Given the description of an element on the screen output the (x, y) to click on. 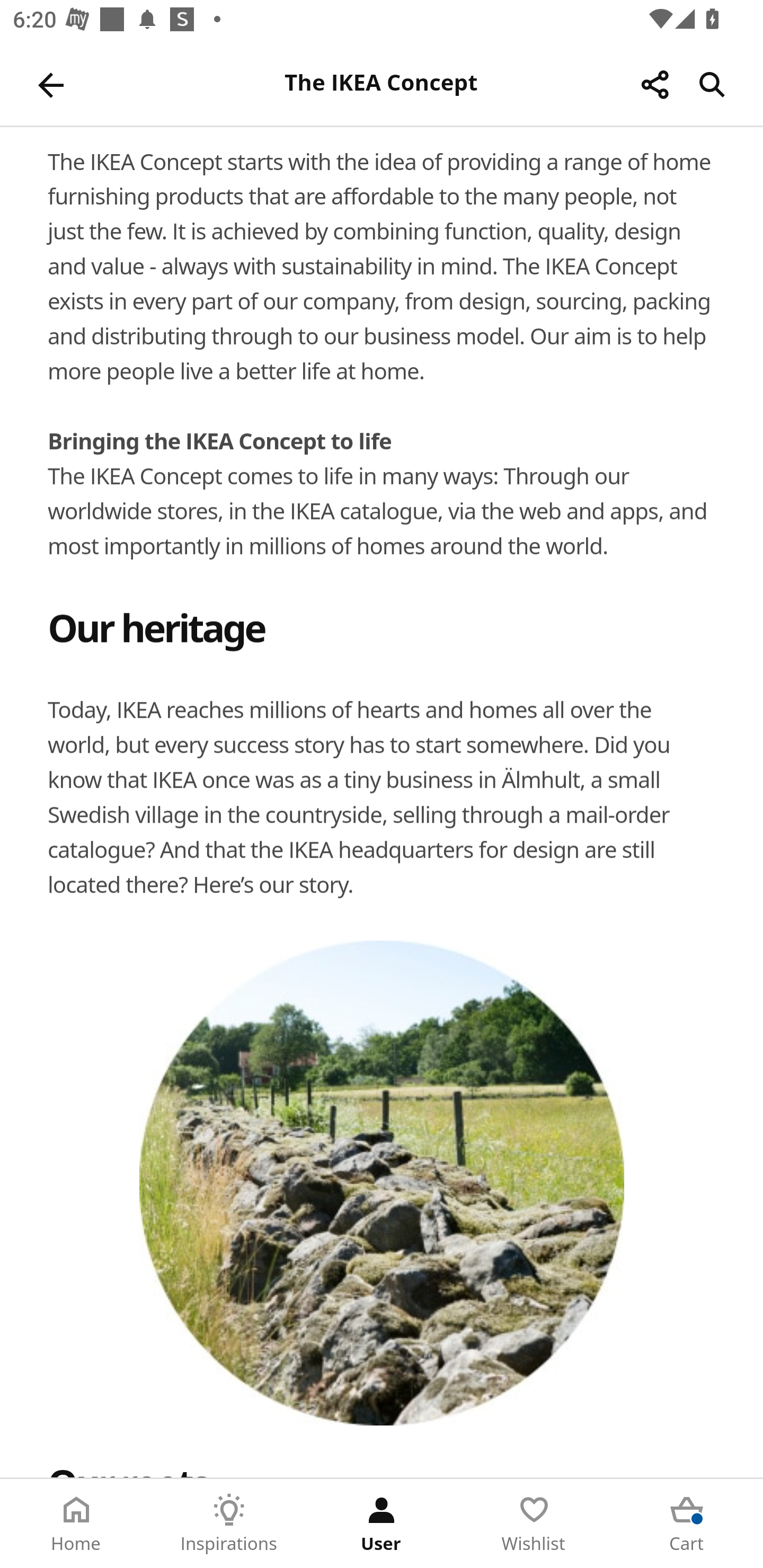
Home
Tab 1 of 5 (76, 1522)
Inspirations
Tab 2 of 5 (228, 1522)
User
Tab 3 of 5 (381, 1522)
Wishlist
Tab 4 of 5 (533, 1522)
Cart
Tab 5 of 5 (686, 1522)
